Given the description of an element on the screen output the (x, y) to click on. 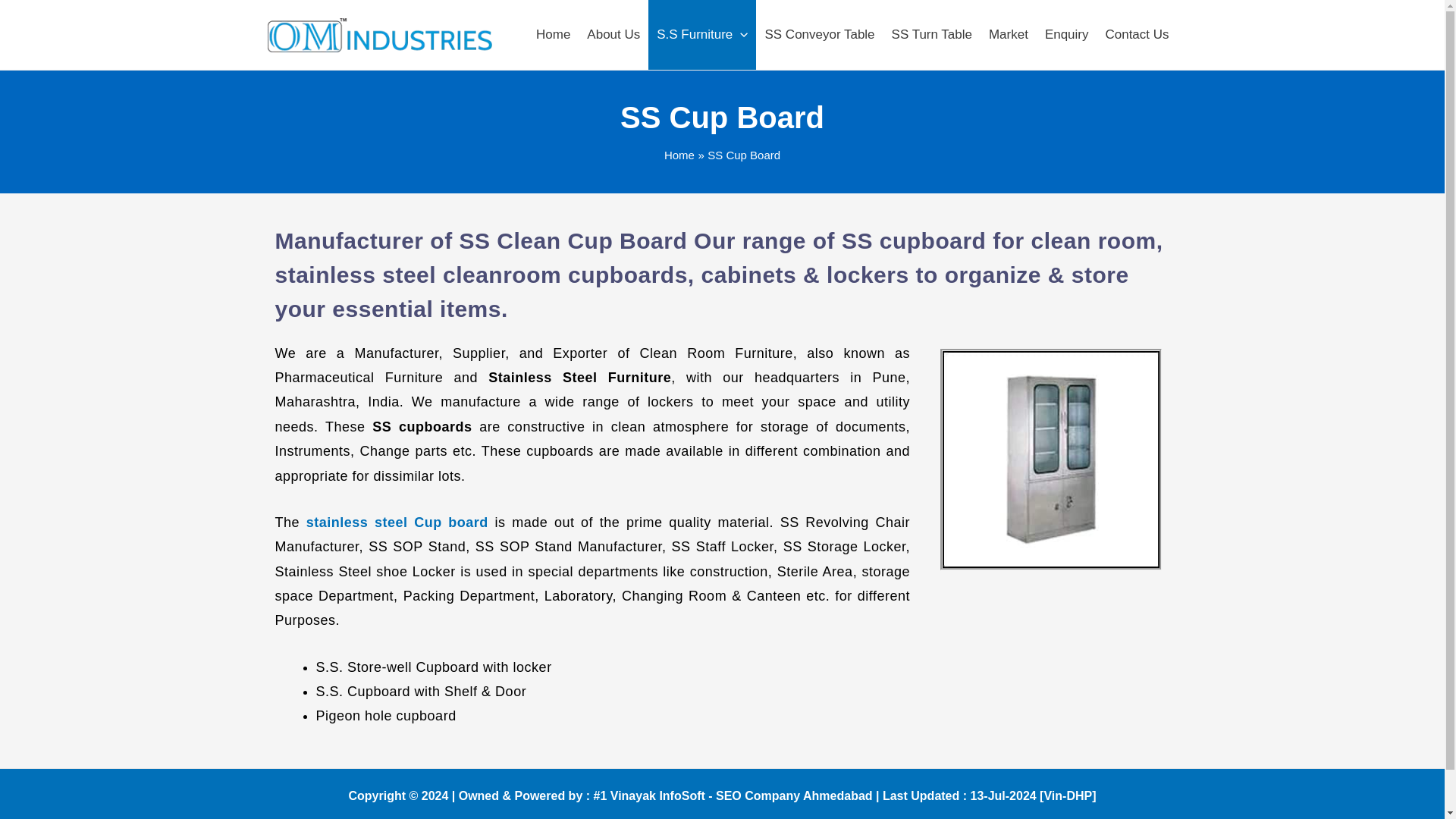
SS Turn Table (931, 34)
Enquiry (1066, 34)
SS Conveyor Table (818, 34)
Home (552, 34)
Market (1007, 34)
Contact Us (1136, 34)
About Us (612, 34)
S.S Furniture (701, 34)
